Given the description of an element on the screen output the (x, y) to click on. 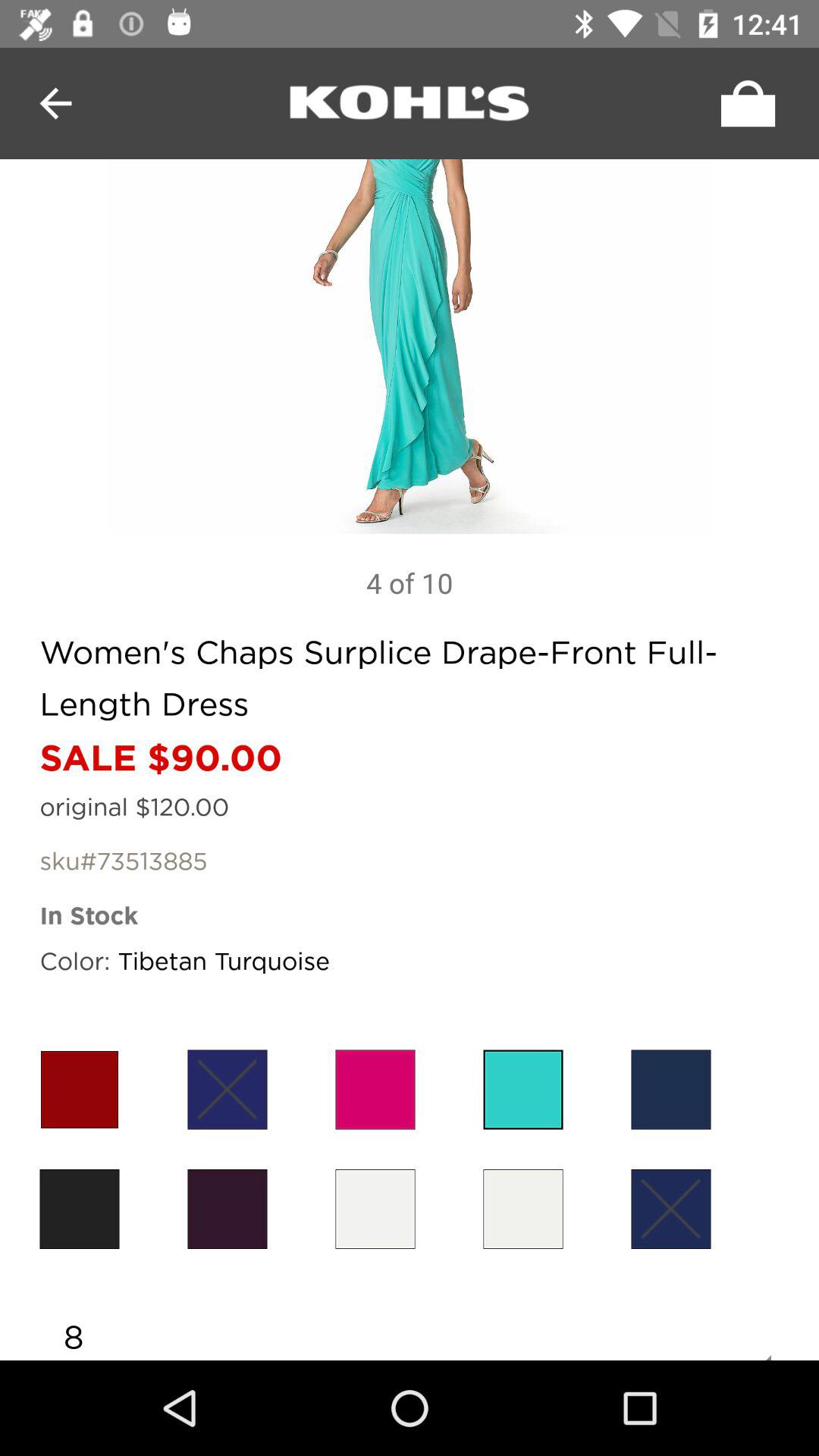
view shopping cart (744, 103)
